Given the description of an element on the screen output the (x, y) to click on. 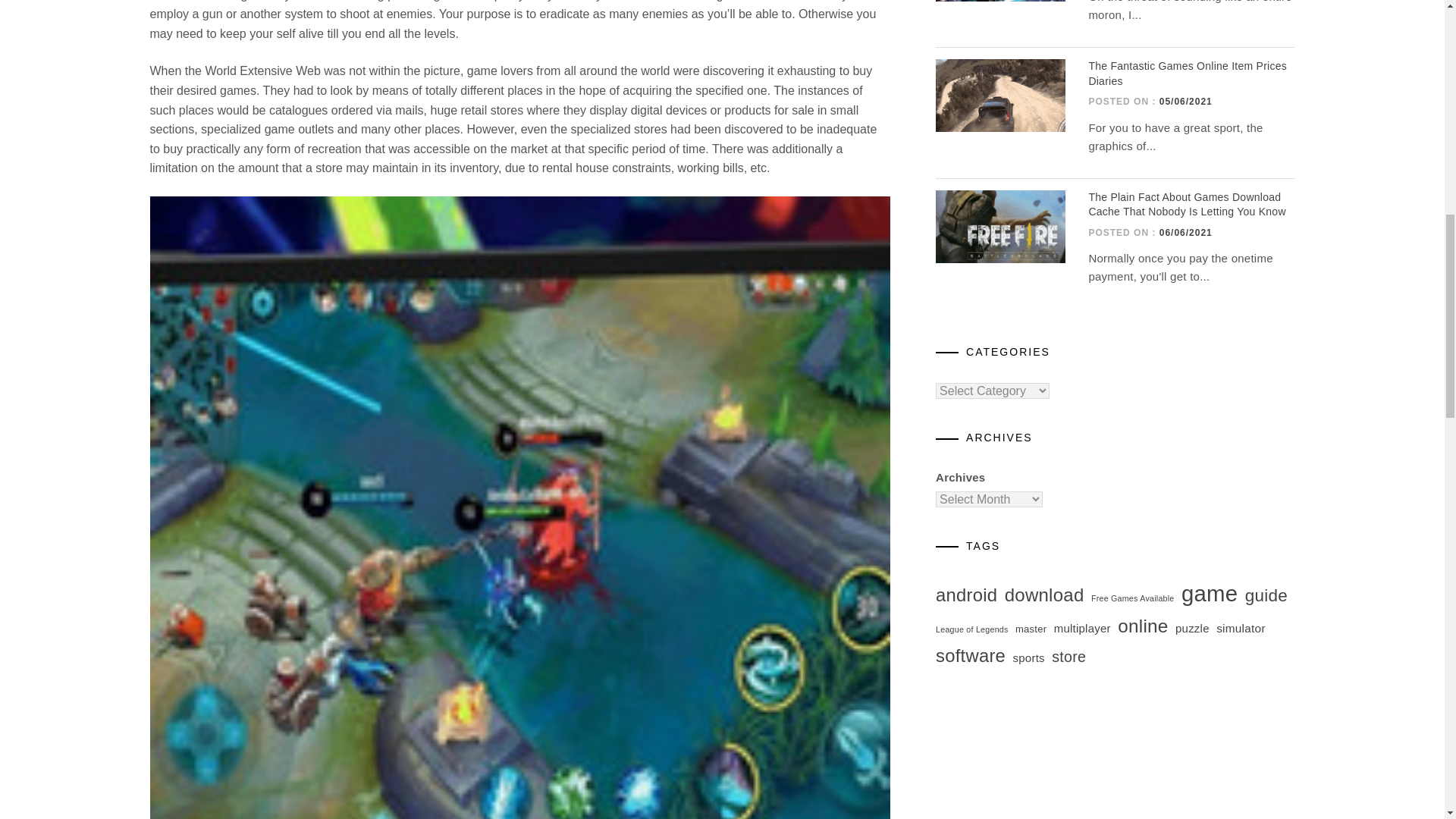
The Fantastic Games Online Item Prices Diaries (1187, 72)
The Fantastic Games Online Item Prices Diaries (1000, 94)
